Given the description of an element on the screen output the (x, y) to click on. 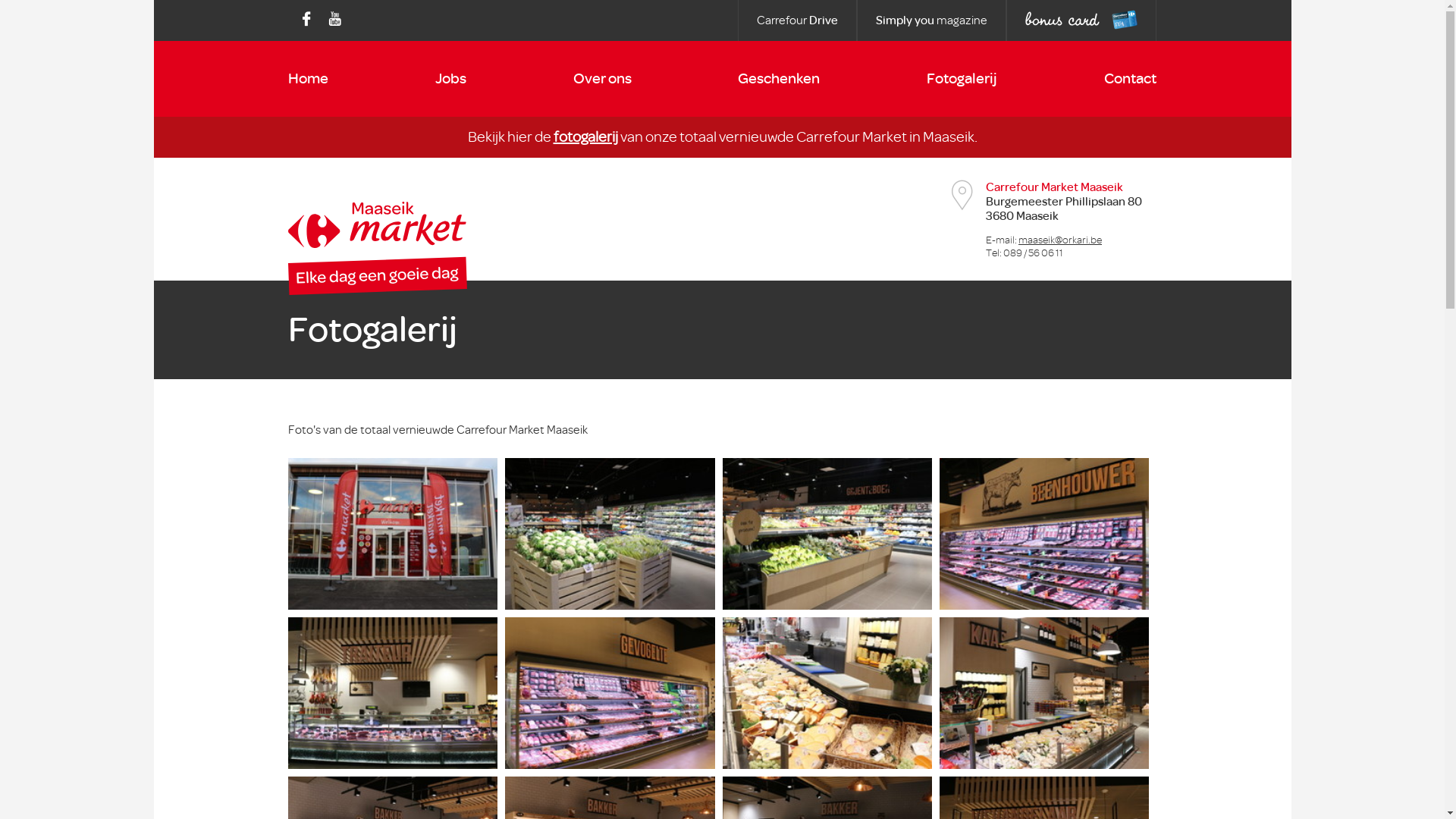
Geschenken Element type: text (778, 78)
Fotogalerij Element type: text (961, 78)
Jobs Element type: text (450, 78)
Contact Element type: text (1130, 78)
maaseik@orkari.be Element type: text (1059, 239)
Home Element type: text (308, 78)
Simply you magazine Element type: text (931, 20)
Over ons Element type: text (602, 78)
Carrefour Drive Element type: text (796, 20)
fotogalerij Element type: text (585, 136)
